Given the description of an element on the screen output the (x, y) to click on. 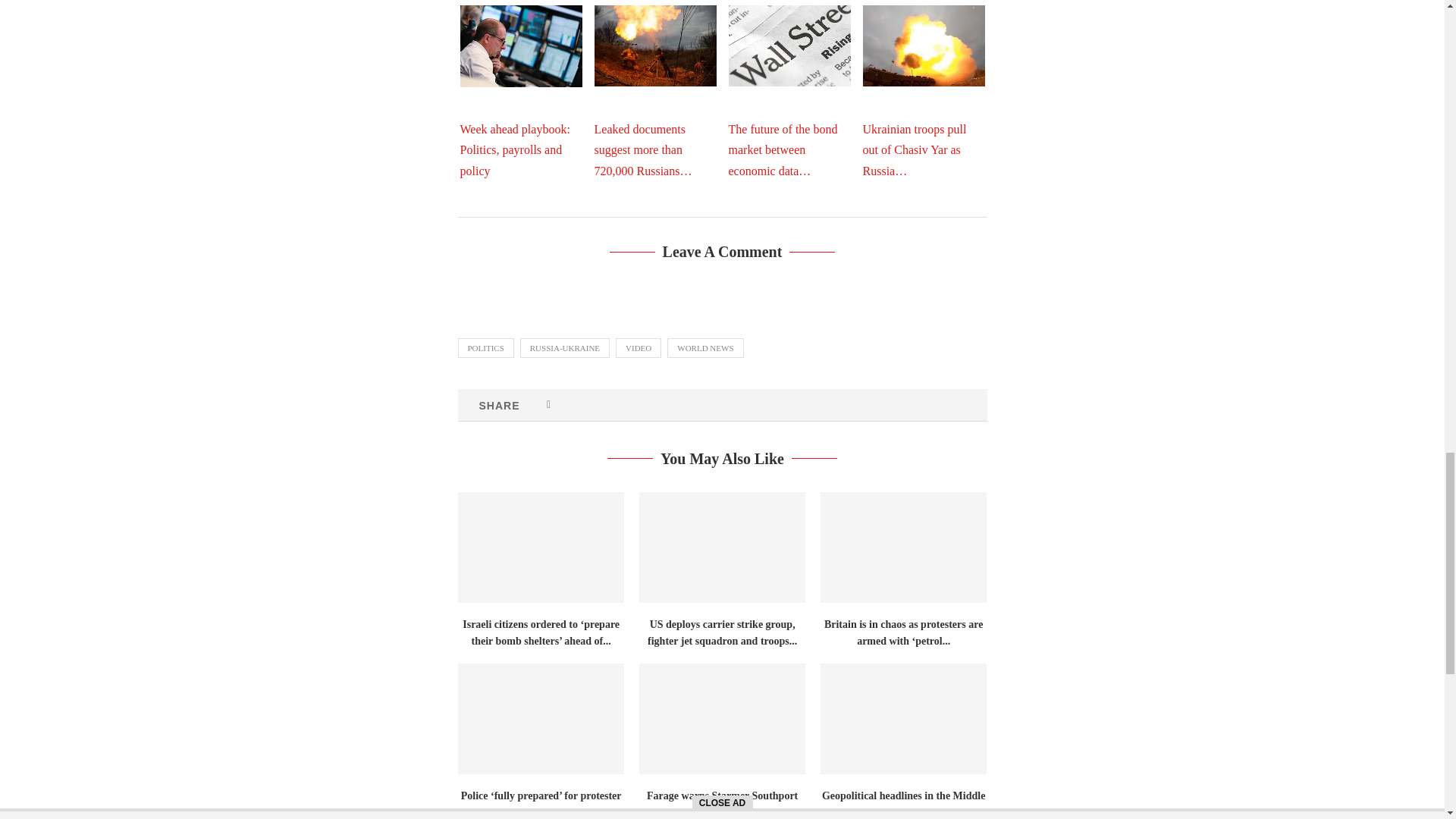
Week ahead playbook: Politics, payrolls and policy (520, 45)
